Given the description of an element on the screen output the (x, y) to click on. 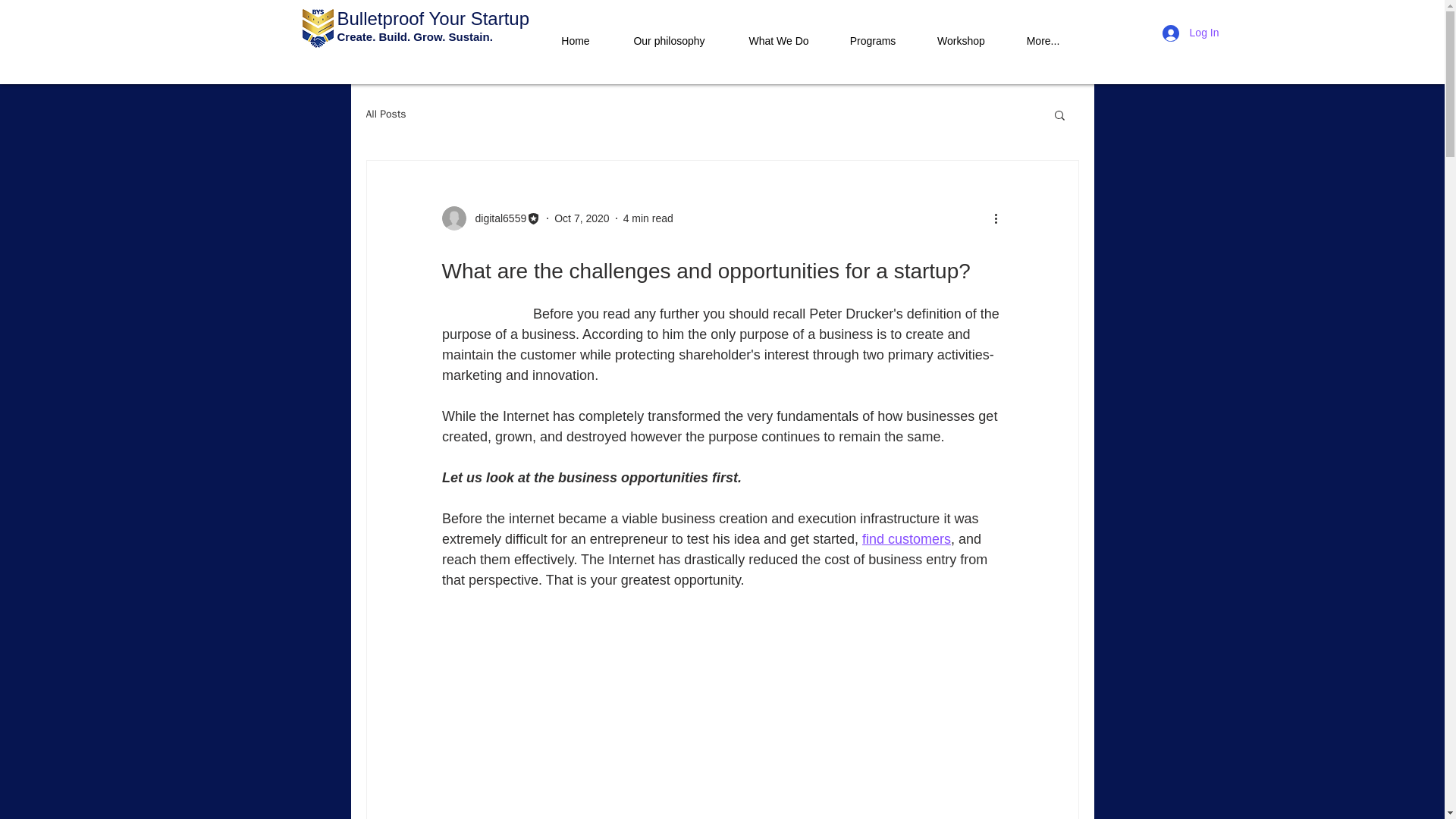
All Posts (385, 114)
Oct 7, 2020 (581, 218)
4 min read (647, 218)
Log In (1190, 32)
digital6559 (495, 218)
ricos-video (722, 689)
Our philosophy (669, 33)
Programs (873, 33)
What We Do (778, 33)
digital6559 (490, 218)
Workshop (960, 33)
Home (575, 33)
find customers (905, 539)
